Given the description of an element on the screen output the (x, y) to click on. 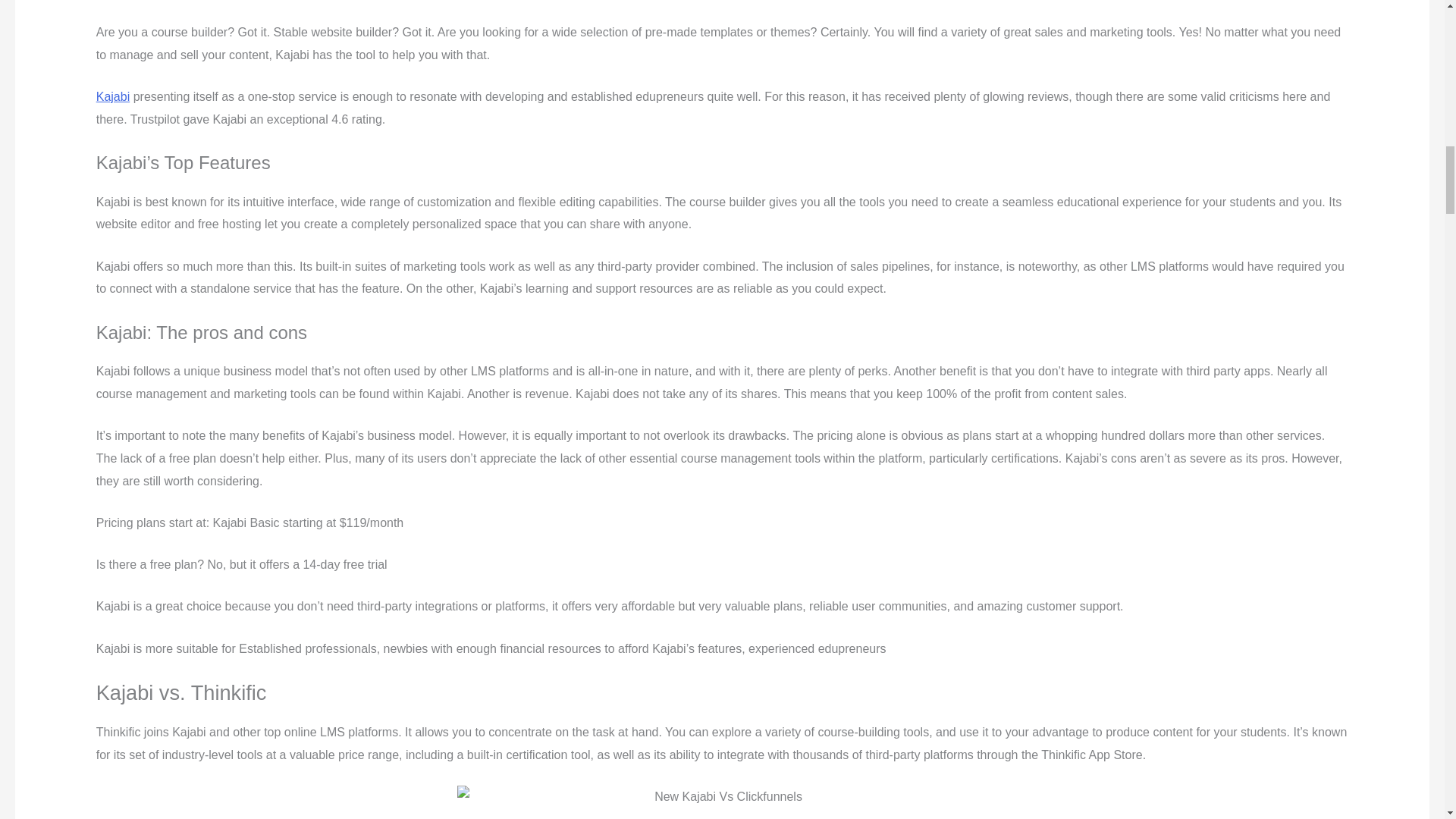
Kajabi (112, 96)
